Given the description of an element on the screen output the (x, y) to click on. 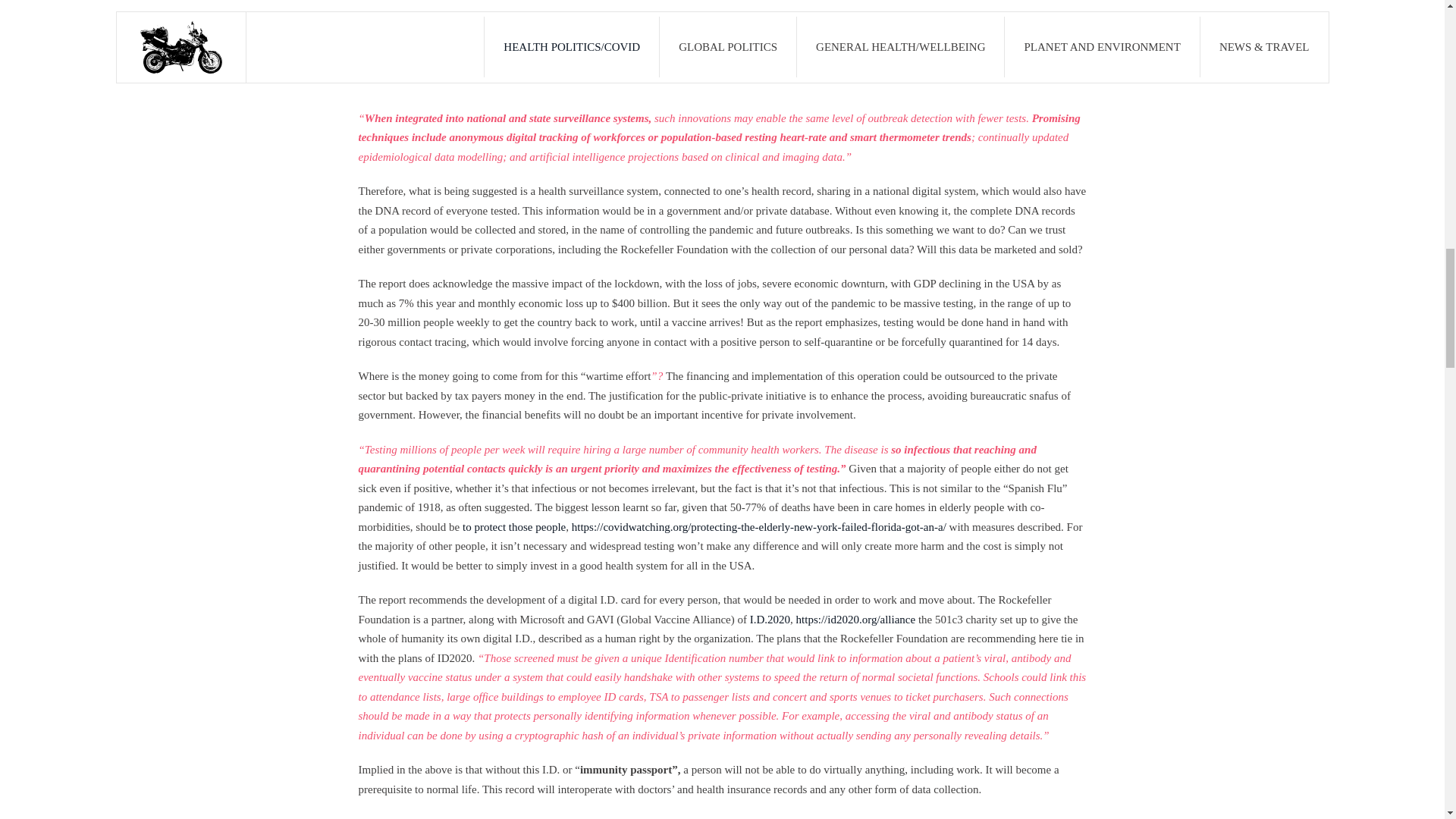
to protect those people (514, 526)
I.D.2020 (769, 619)
